Given the description of an element on the screen output the (x, y) to click on. 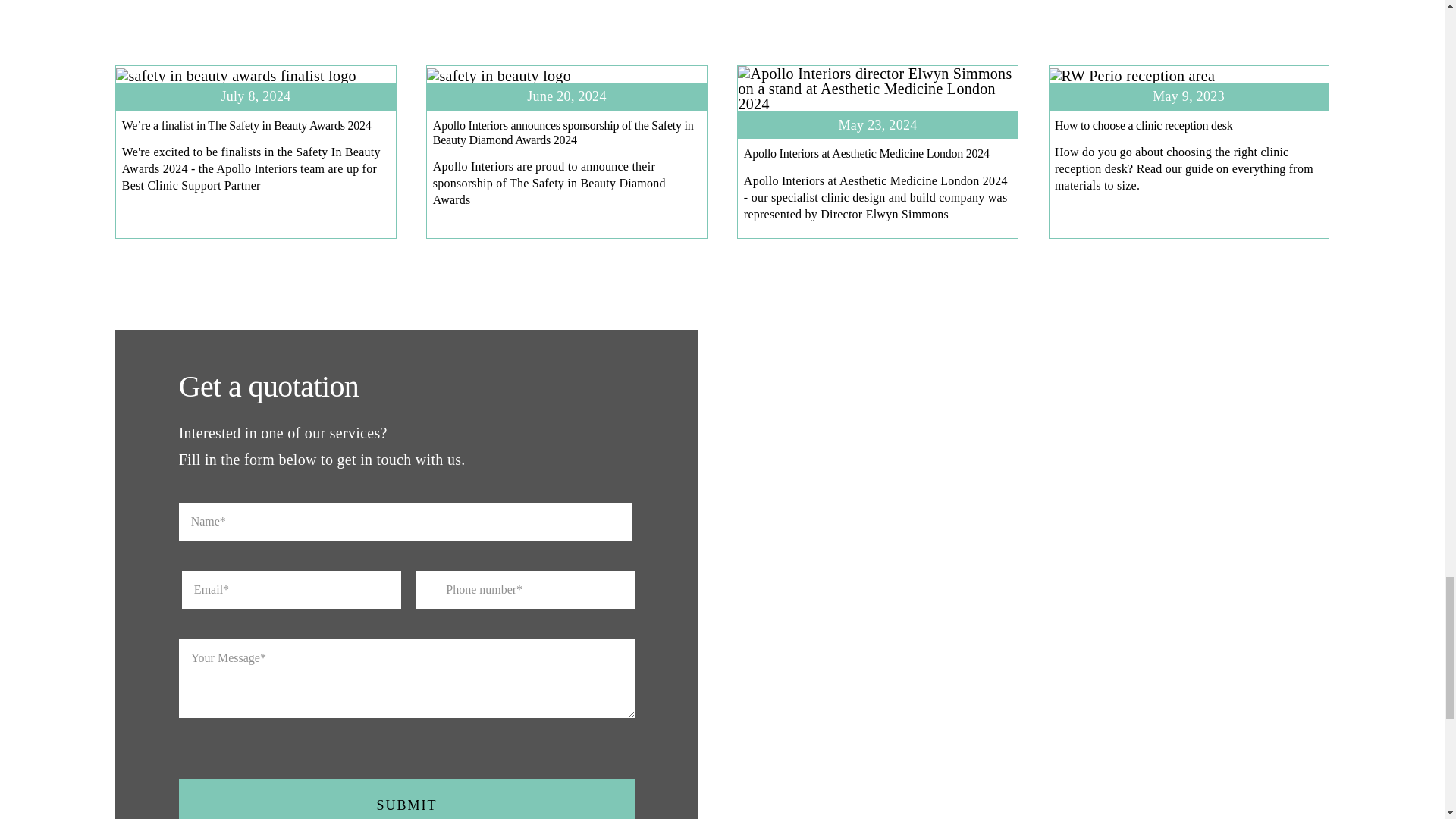
safety in beauty logo (498, 75)
RW Perio reception area (1132, 75)
safety-in-beauty-awards-2024 (235, 75)
